Given the description of an element on the screen output the (x, y) to click on. 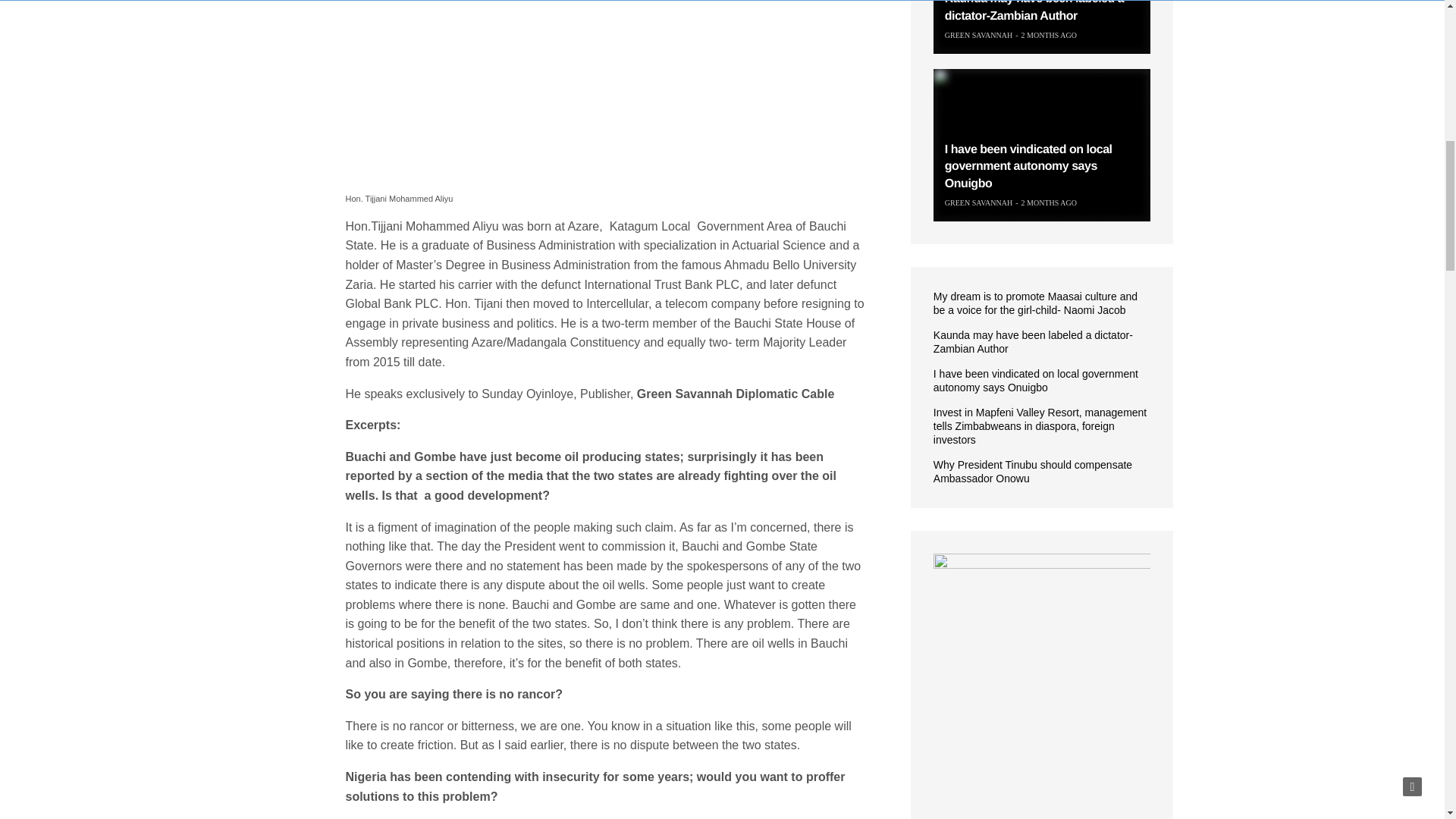
Posts by Green Savannah (977, 35)
Posts by Green Savannah (977, 202)
